Given the description of an element on the screen output the (x, y) to click on. 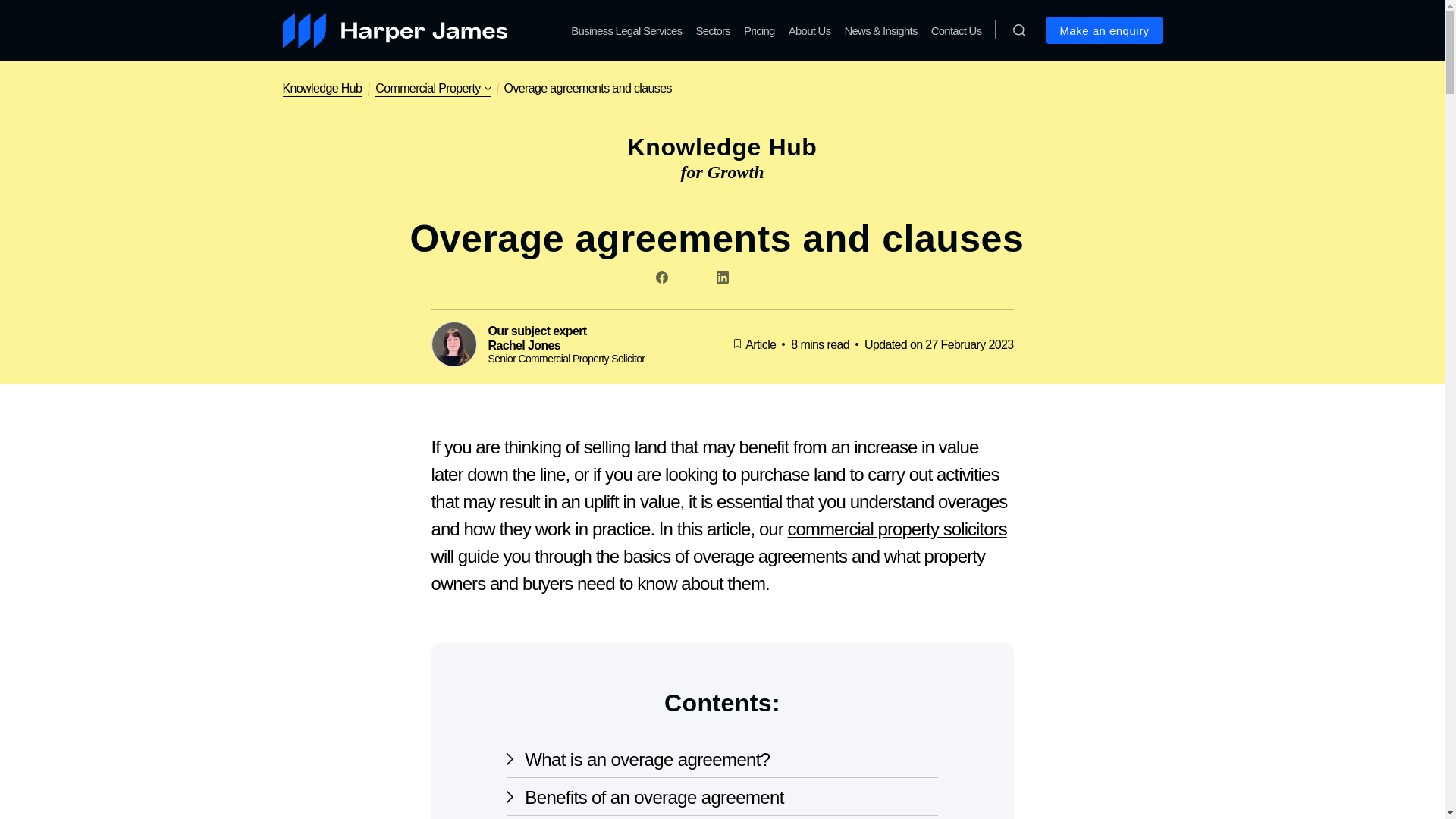
Share on Facebook (661, 275)
Share on Twitter (691, 275)
Share on LinkedIn (721, 275)
